Given the description of an element on the screen output the (x, y) to click on. 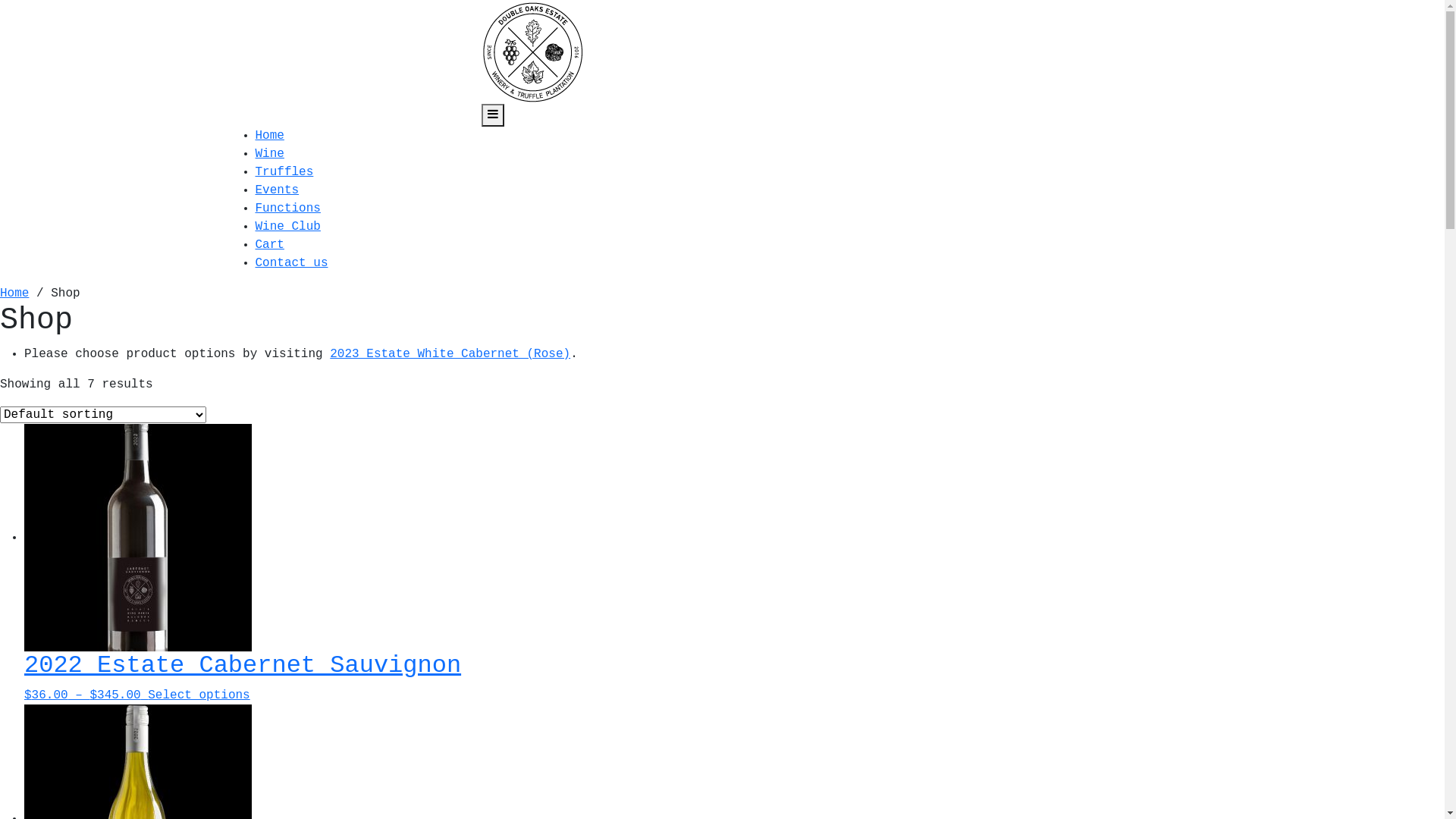
Home Element type: text (14, 293)
Functions Element type: text (287, 208)
Wine Club Element type: text (287, 226)
Select options Element type: text (198, 695)
2023 Estate White Cabernet (Rose) Element type: text (449, 353)
Cart Element type: text (268, 244)
Home Element type: text (268, 135)
Events Element type: text (276, 190)
Wine Element type: text (268, 153)
Contact us Element type: text (290, 262)
Truffles Element type: text (283, 171)
